Given the description of an element on the screen output the (x, y) to click on. 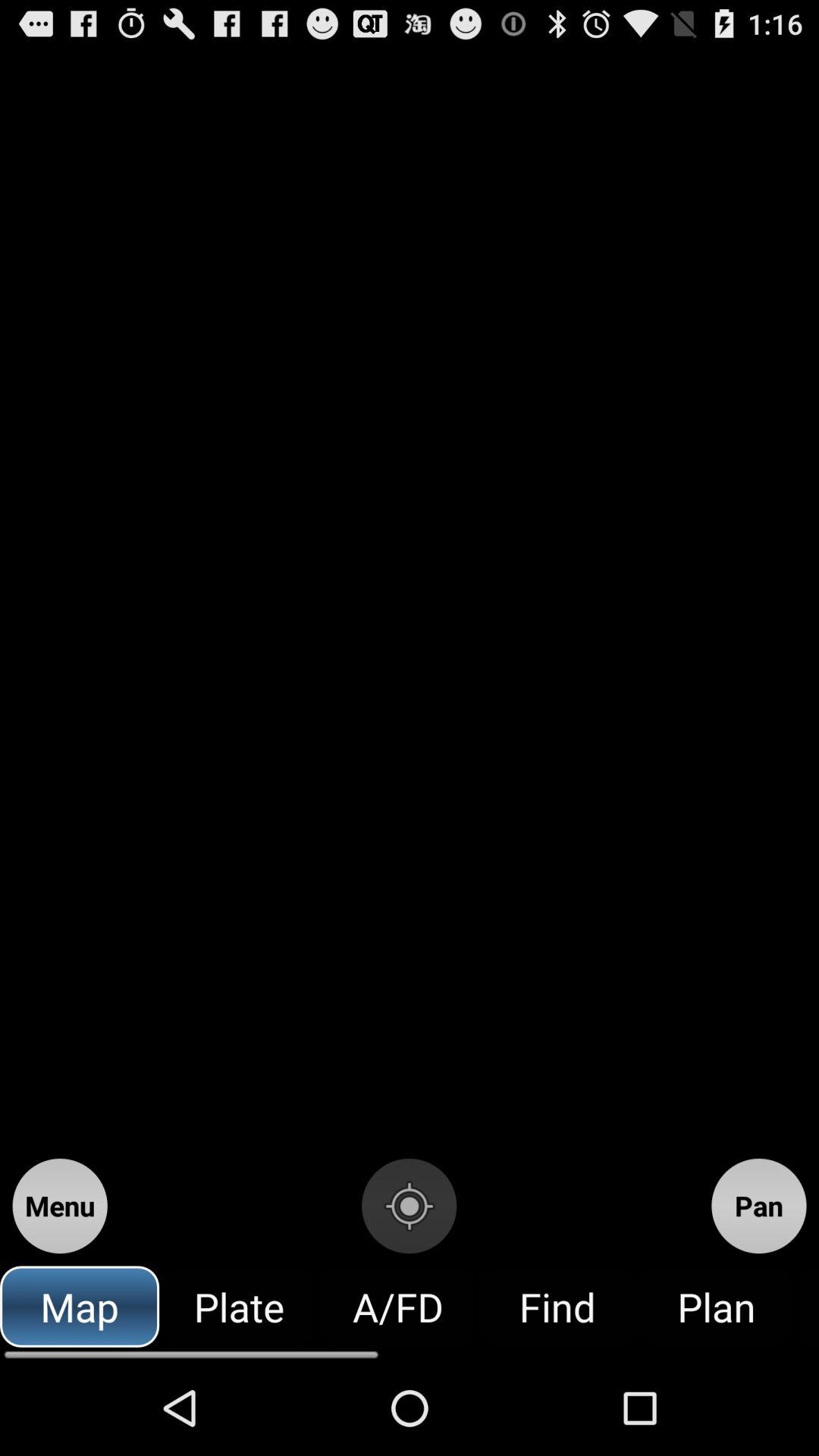
launch item above the map icon (59, 1205)
